Given the description of an element on the screen output the (x, y) to click on. 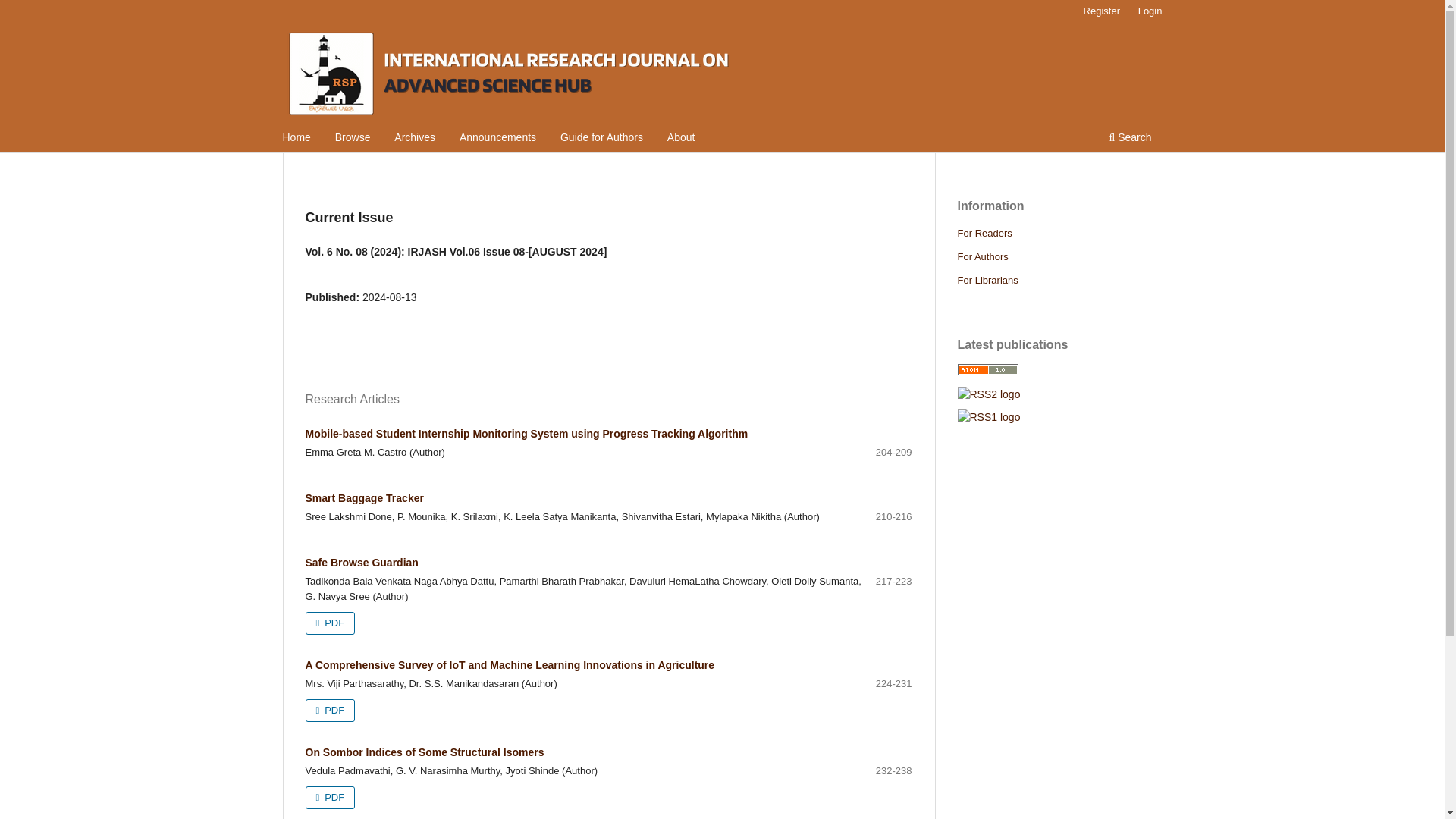
Search (1129, 139)
On Sombor Indices of Some Structural Isomers (423, 752)
Announcements (497, 139)
PDF (329, 710)
Login (1150, 11)
Home (296, 139)
Browse (352, 139)
For Librarians (986, 279)
